Given the description of an element on the screen output the (x, y) to click on. 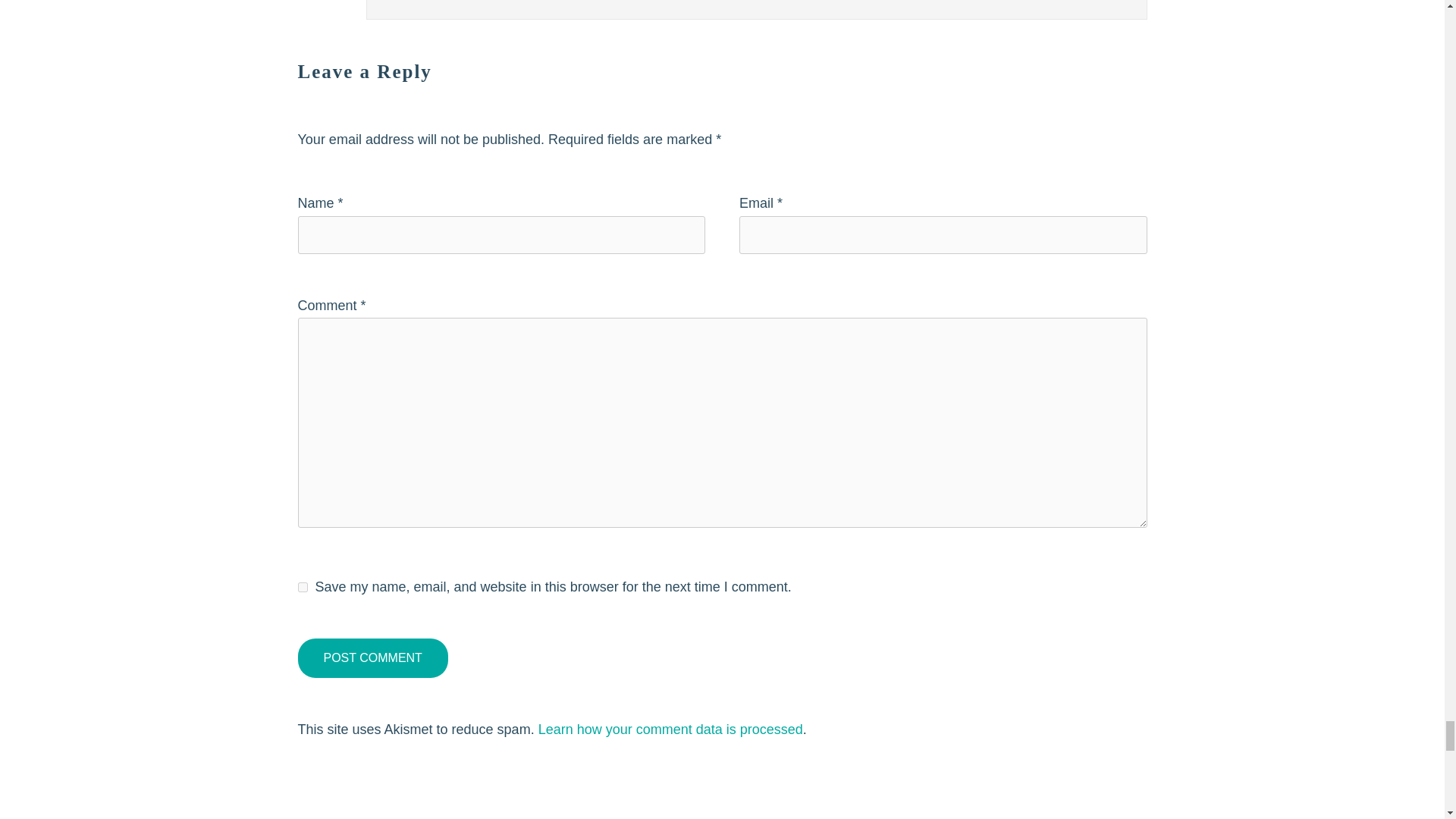
Post Comment (371, 658)
yes (302, 587)
